Given the description of an element on the screen output the (x, y) to click on. 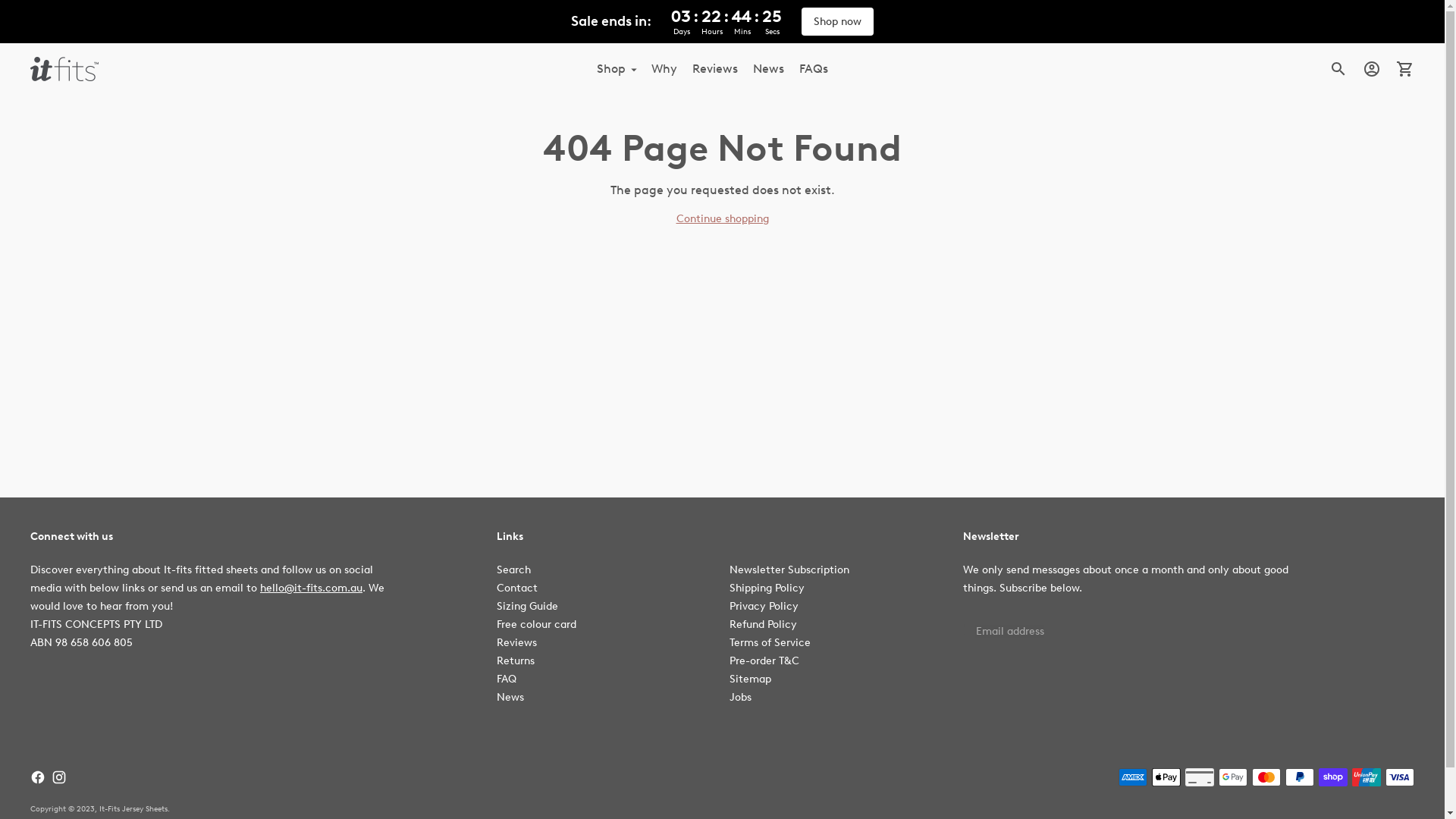
Newsletter Subscription Element type: text (789, 569)
It-Fits Jersey Sheets on Facebook Element type: hover (37, 776)
Contact Element type: text (516, 587)
Account Element type: hover (1371, 68)
Why Element type: text (664, 68)
Sizing Guide Element type: text (527, 605)
FAQs Element type: text (813, 68)
Search Element type: text (513, 569)
Cart Element type: hover (1404, 68)
Shipping Policy Element type: text (766, 587)
Privacy Policy Element type: text (763, 605)
Shop Element type: text (616, 68)
News Element type: text (768, 68)
It-Fits Jersey Sheets Element type: text (133, 808)
Refund Policy Element type: text (763, 624)
It-Fits Jersey Sheets on Instagram Element type: hover (58, 776)
Reviews Element type: text (714, 68)
Shop now Element type: text (837, 21)
Reviews Element type: text (516, 642)
FAQ Element type: text (506, 678)
hello@it-fits.com.au Element type: text (311, 587)
Search Element type: hover (1338, 68)
Free colour card Element type: text (536, 624)
Returns Element type: text (515, 660)
Terms of Service Element type: text (769, 642)
Continue shopping Element type: text (722, 218)
News Element type: text (510, 696)
Submit Element type: text (1413, 611)
Pre-order T&C Element type: text (764, 660)
Jobs Element type: text (740, 696)
Sitemap Element type: text (750, 678)
